Given the description of an element on the screen output the (x, y) to click on. 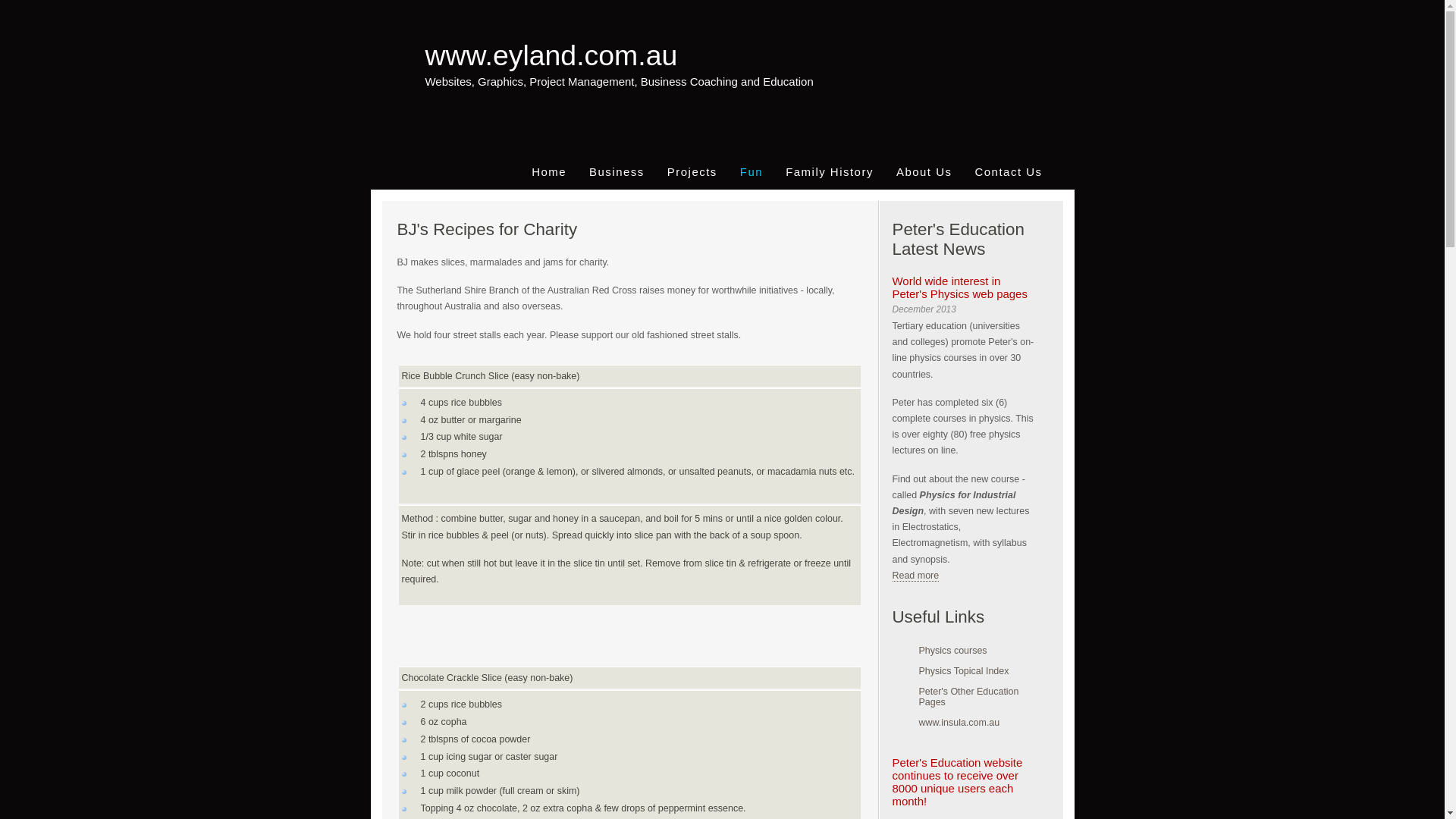
Contact Us Element type: text (1008, 171)
Physics courses Element type: text (958, 650)
Home Element type: text (548, 171)
Fun Element type: text (751, 171)
Projects Element type: text (691, 171)
www.insula.com.au Element type: text (958, 722)
About Us Element type: text (923, 171)
Physics Topical Index Element type: text (958, 670)
Business Element type: text (616, 171)
www.eyland.com.au Element type: text (550, 46)
Family History Element type: text (829, 171)
Peter's Other Education Pages Element type: text (958, 696)
Read more Element type: text (914, 575)
